Given the description of an element on the screen output the (x, y) to click on. 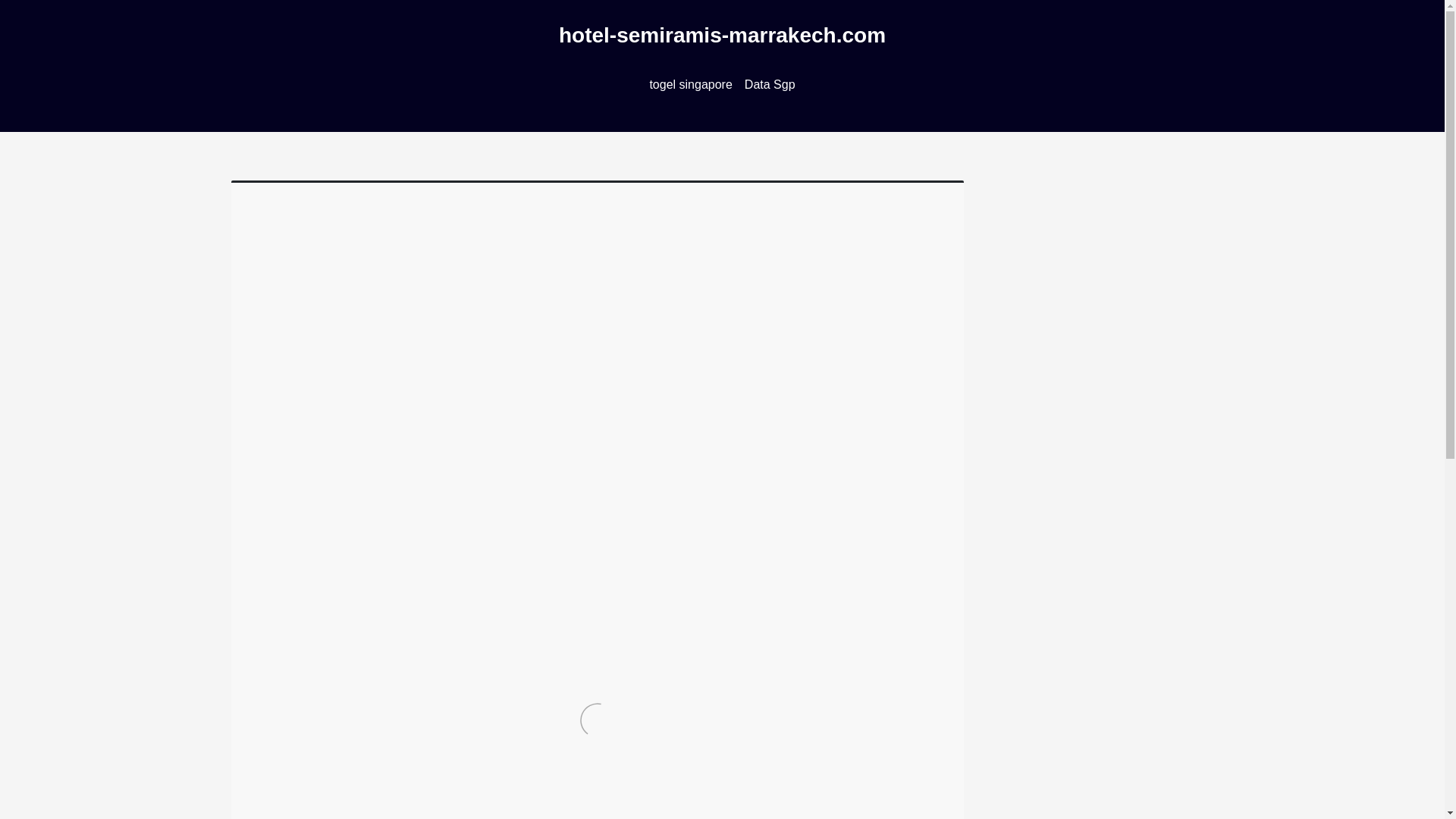
adminhot (399, 300)
Data Sgp (770, 84)
togel singapore (690, 84)
info (450, 300)
hotel-semiramis-marrakech.com (722, 34)
Data Sgp (770, 84)
november 15, 2021 (312, 300)
togel singapore (690, 84)
